Given the description of an element on the screen output the (x, y) to click on. 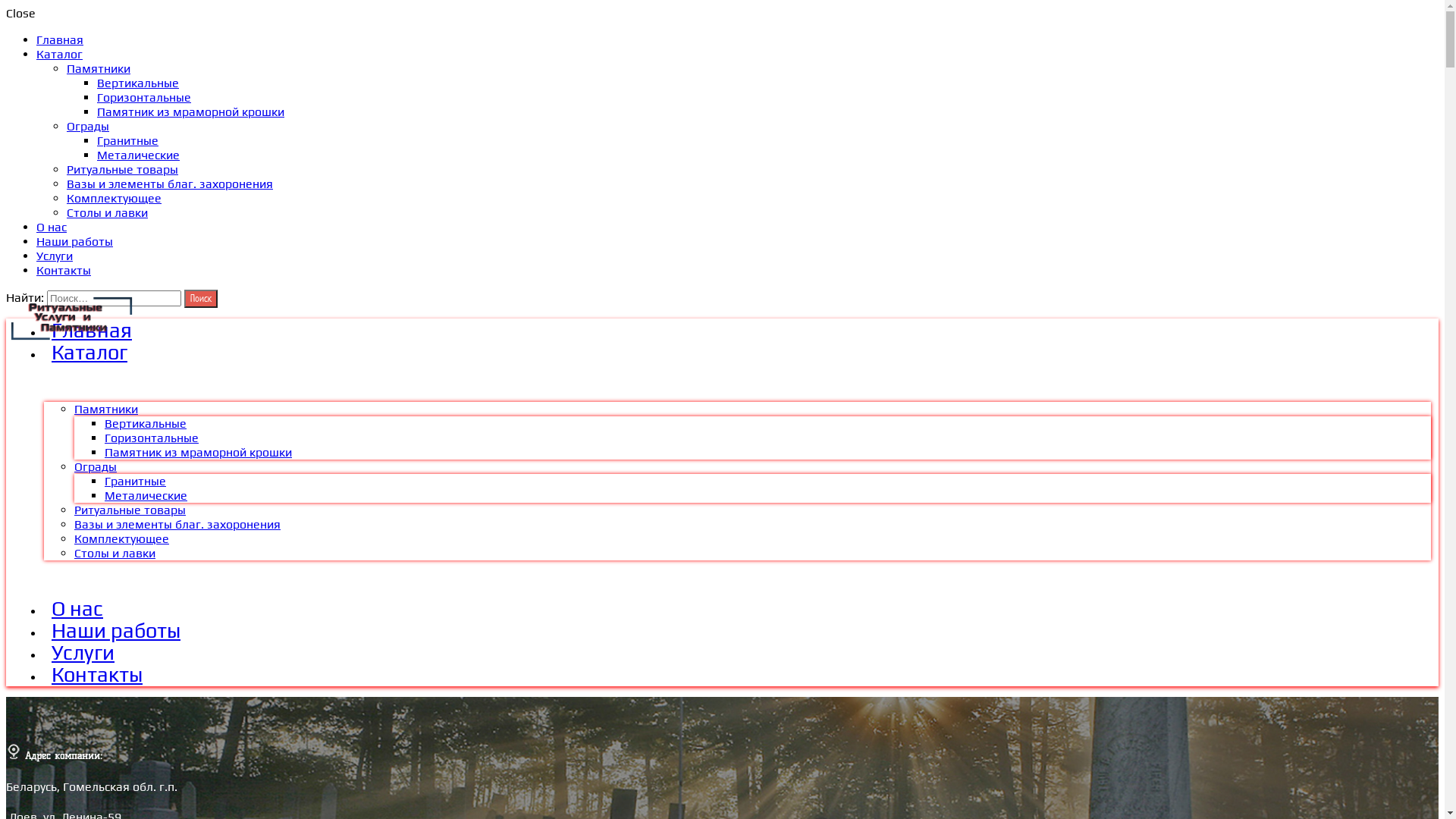
Close Element type: text (20, 13)
